Given the description of an element on the screen output the (x, y) to click on. 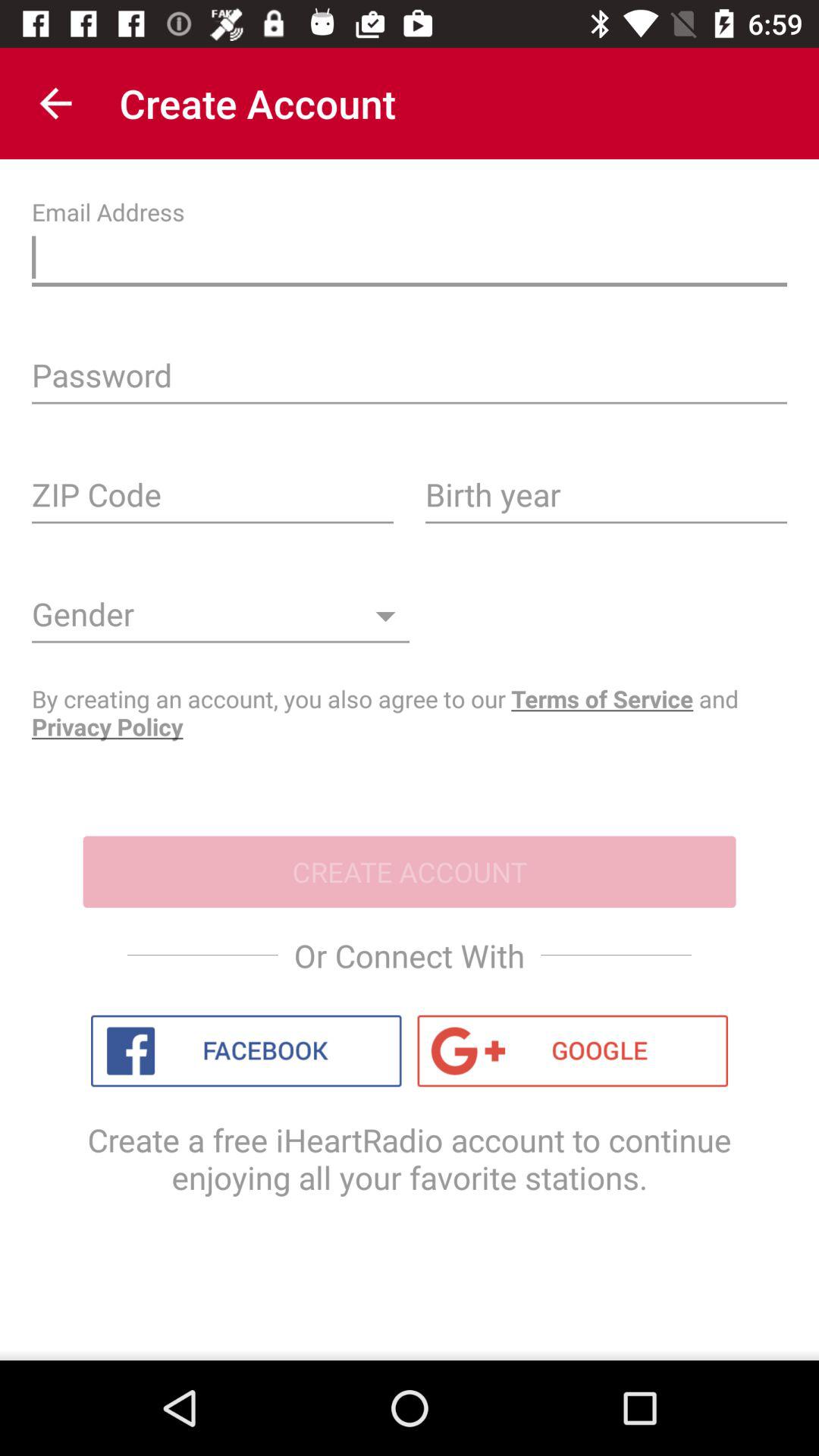
open the item above create a free item (572, 1050)
